Given the description of an element on the screen output the (x, y) to click on. 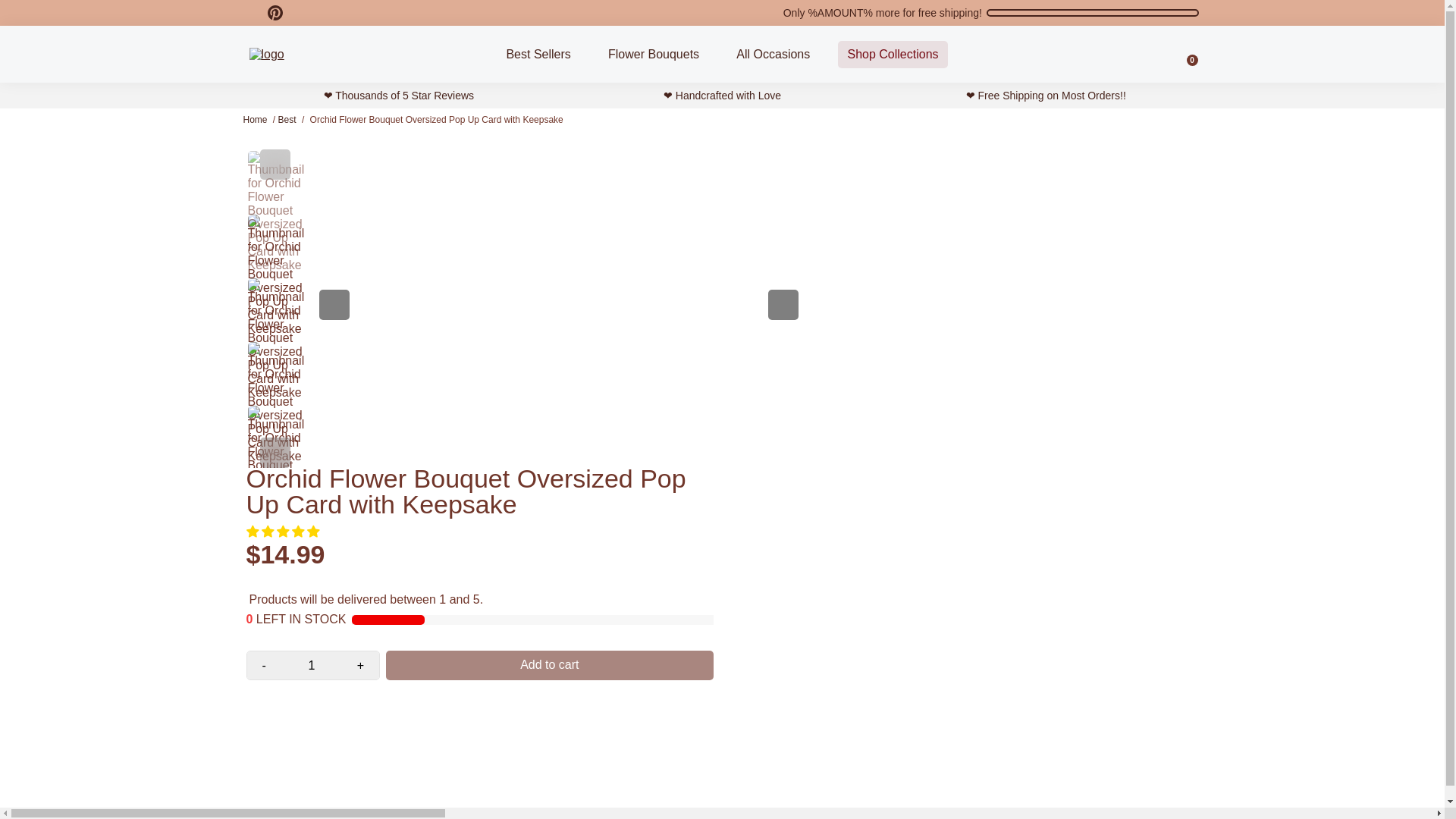
All Occasions (772, 53)
Home (254, 119)
1 (311, 664)
Shop Collections (892, 53)
Flower Bouquets (653, 53)
Best Sellers (537, 53)
